Given the description of an element on the screen output the (x, y) to click on. 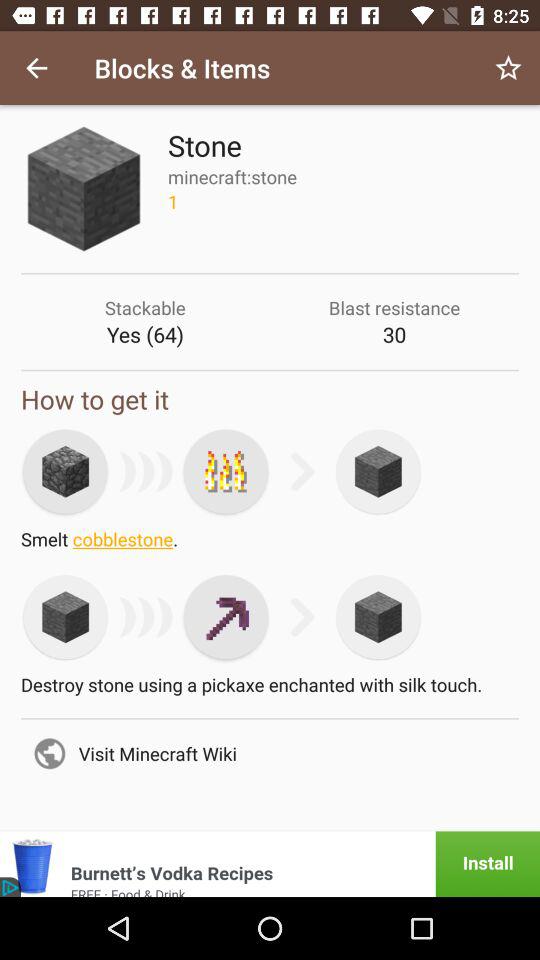
melt this stone (226, 471)
